Given the description of an element on the screen output the (x, y) to click on. 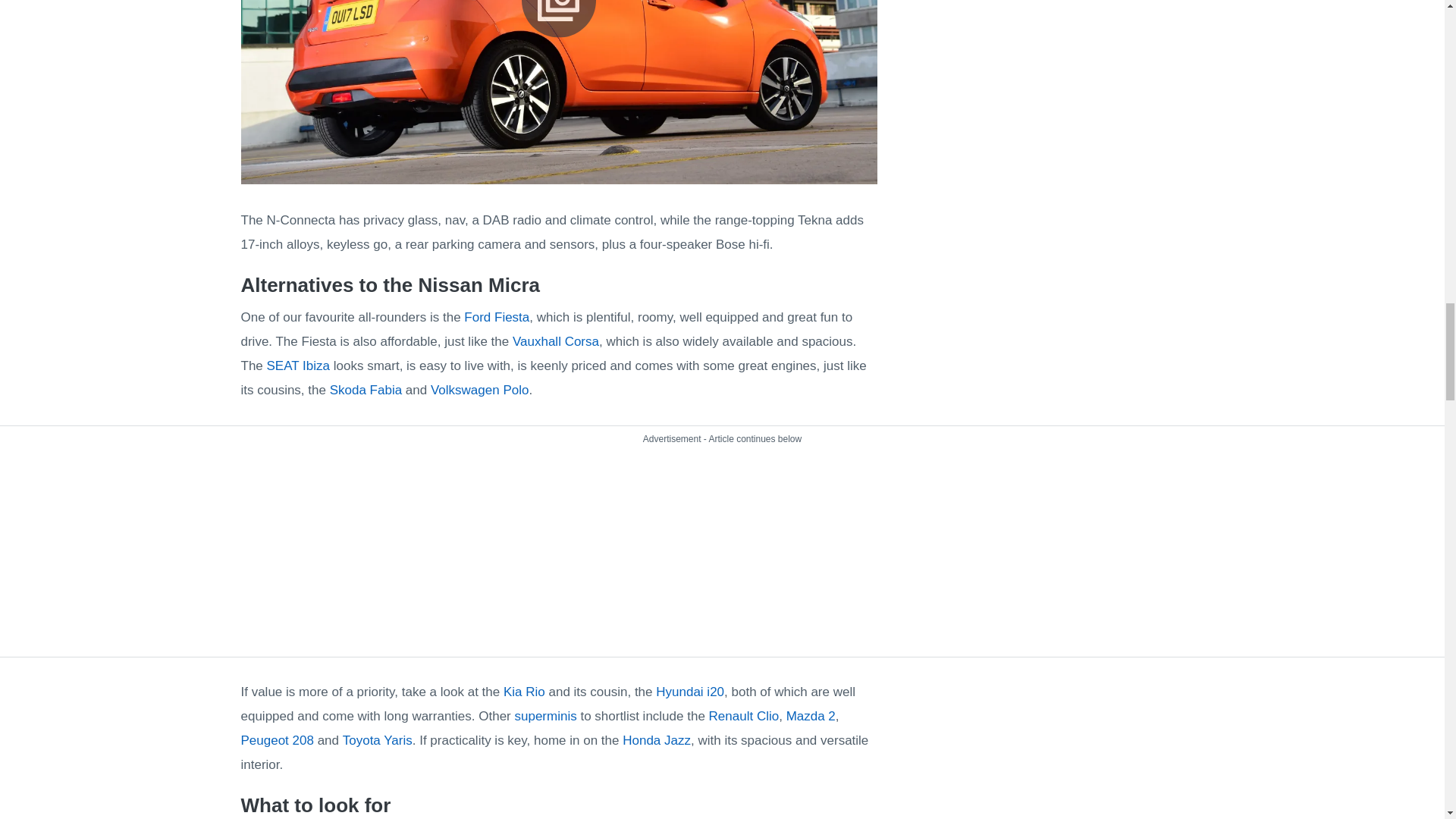
SEAT Ibiza (298, 365)
Ford Fiesta (496, 317)
10 (559, 91)
Vauxhall Corsa (555, 341)
Skoda Fabia (365, 390)
